Given the description of an element on the screen output the (x, y) to click on. 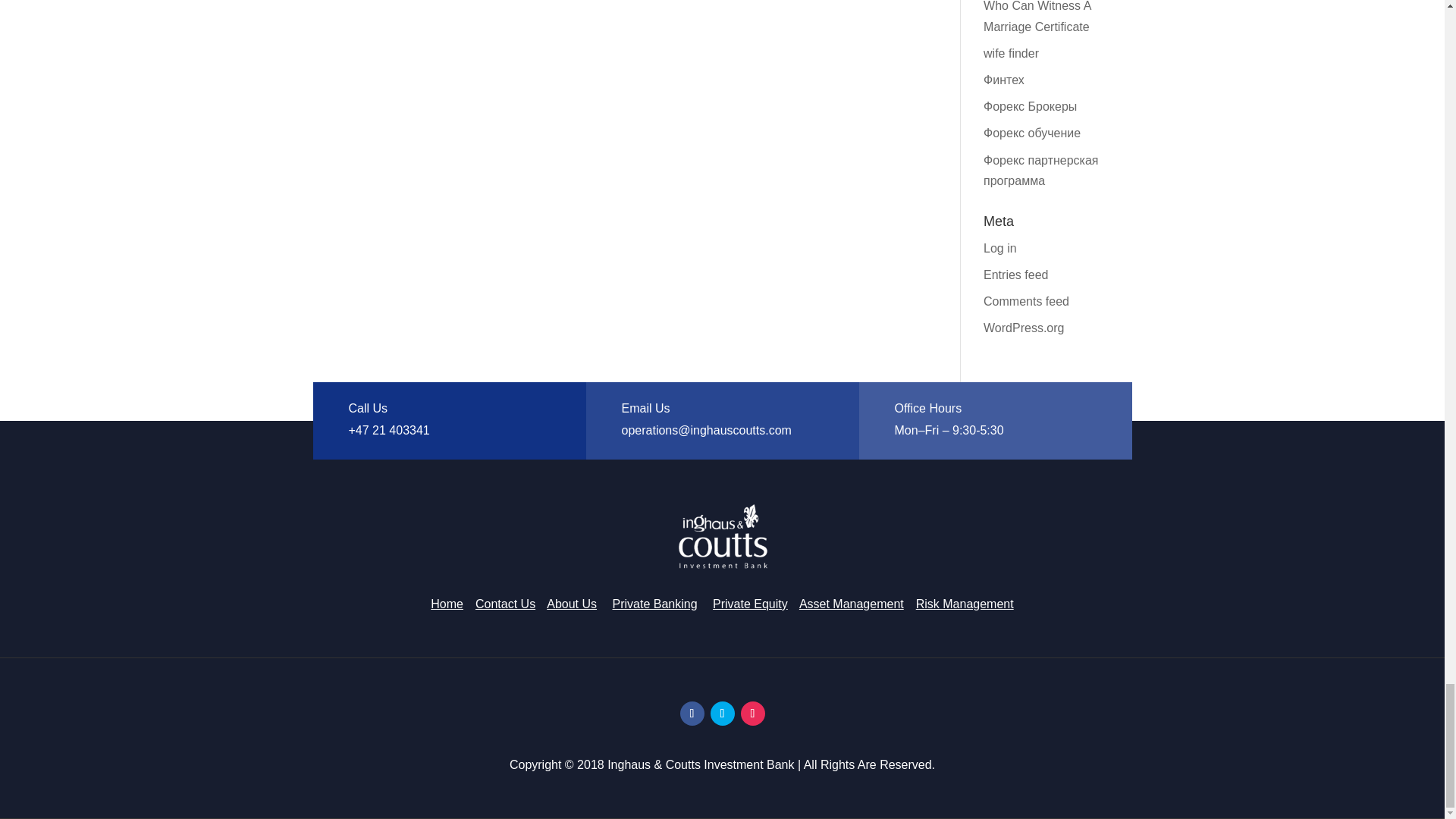
Follow on Instagram (751, 713)
Follow on Facebook (691, 713)
Follow on Twitter (721, 713)
